Given the description of an element on the screen output the (x, y) to click on. 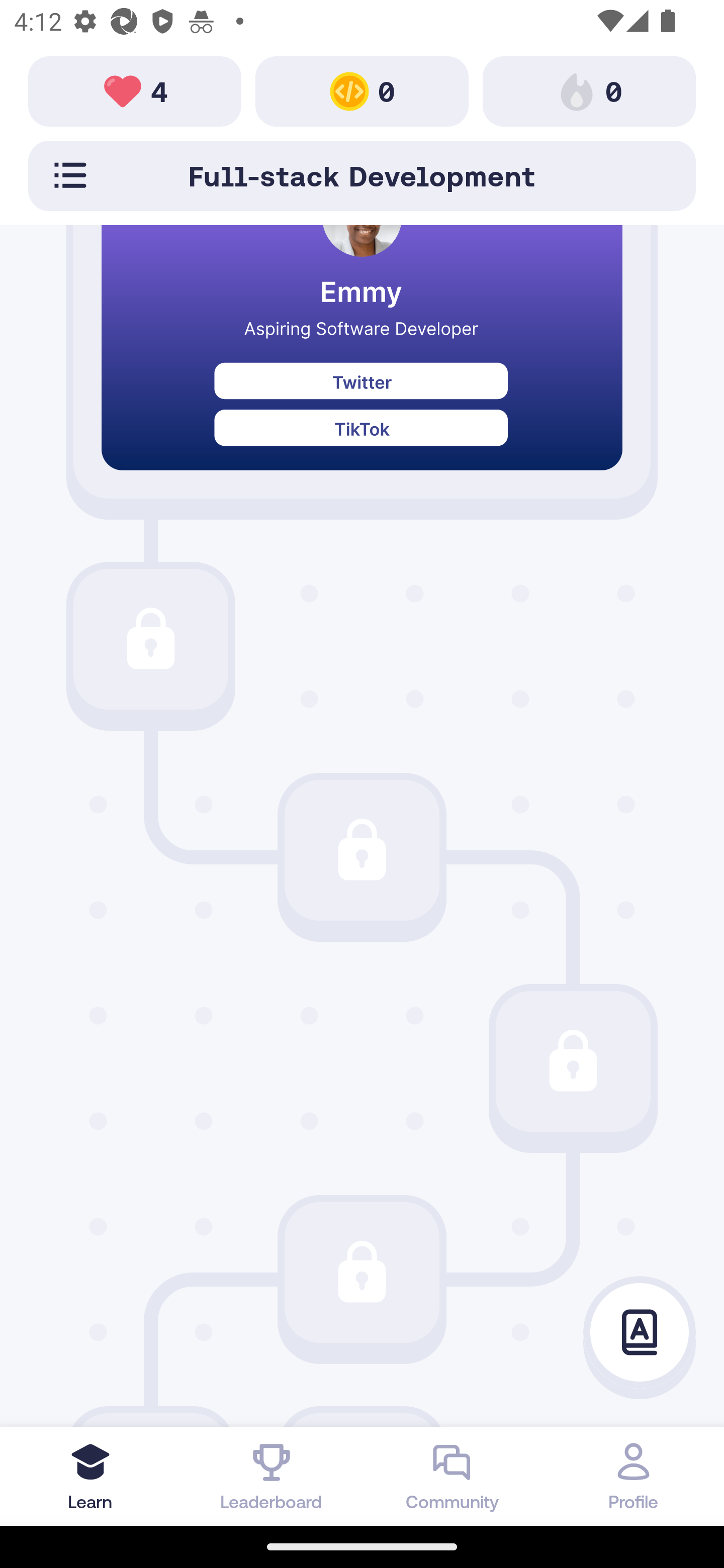
Path Toolbar Image 4 (134, 90)
Path Toolbar Image 0 (361, 90)
Path Toolbar Image 0 (588, 90)
Path Toolbar Selector Full-stack Development (361, 175)
preview image (361, 361)
Path Icon (150, 639)
Path Icon (361, 849)
Path Icon (572, 1061)
Path Icon (361, 1272)
Glossary Icon (639, 1332)
Leaderboard (271, 1475)
Community (452, 1475)
Profile (633, 1475)
